Given the description of an element on the screen output the (x, y) to click on. 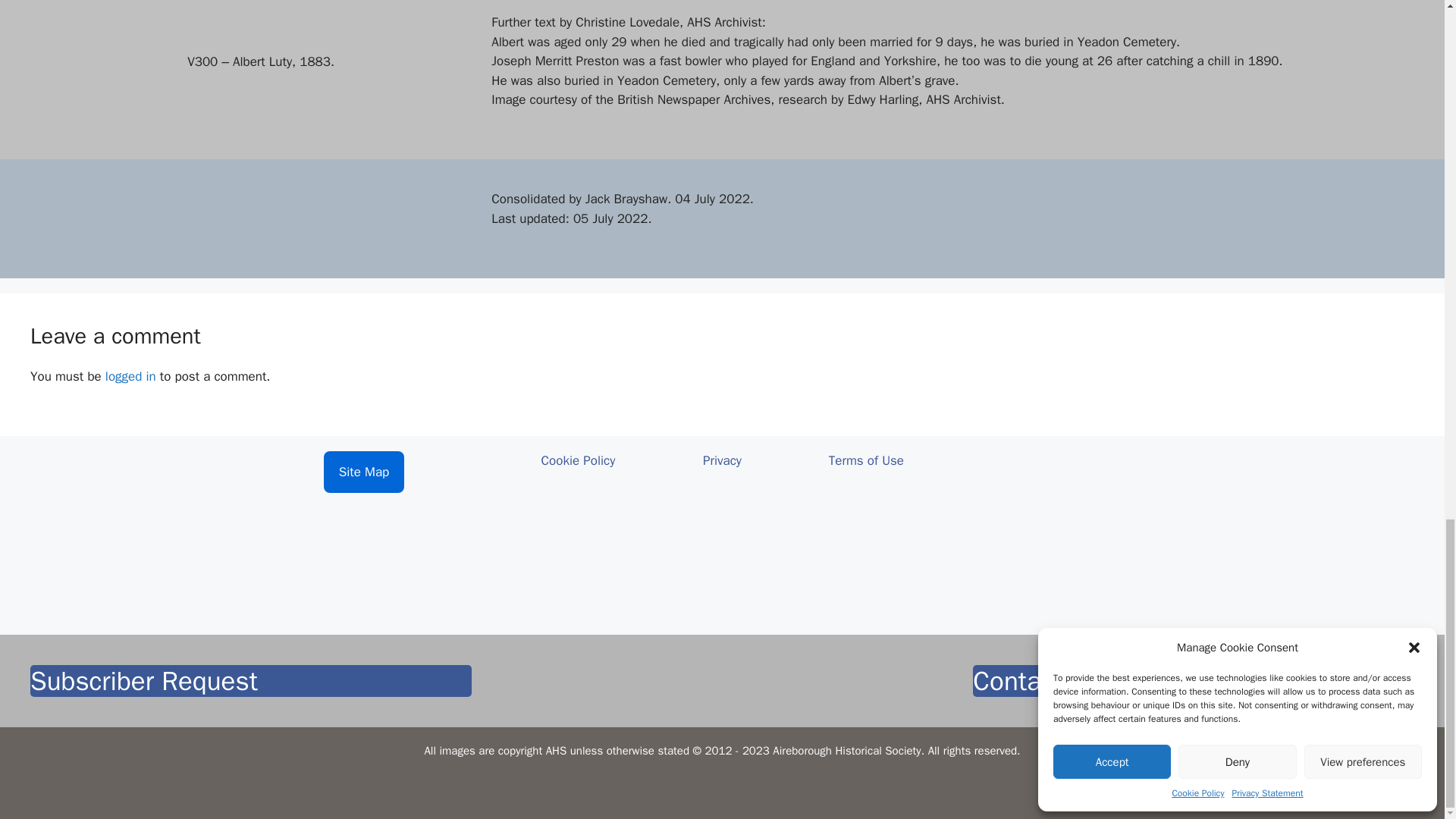
Scroll back to top (1406, 43)
Please join us on Facebook (1079, 532)
